Given the description of an element on the screen output the (x, y) to click on. 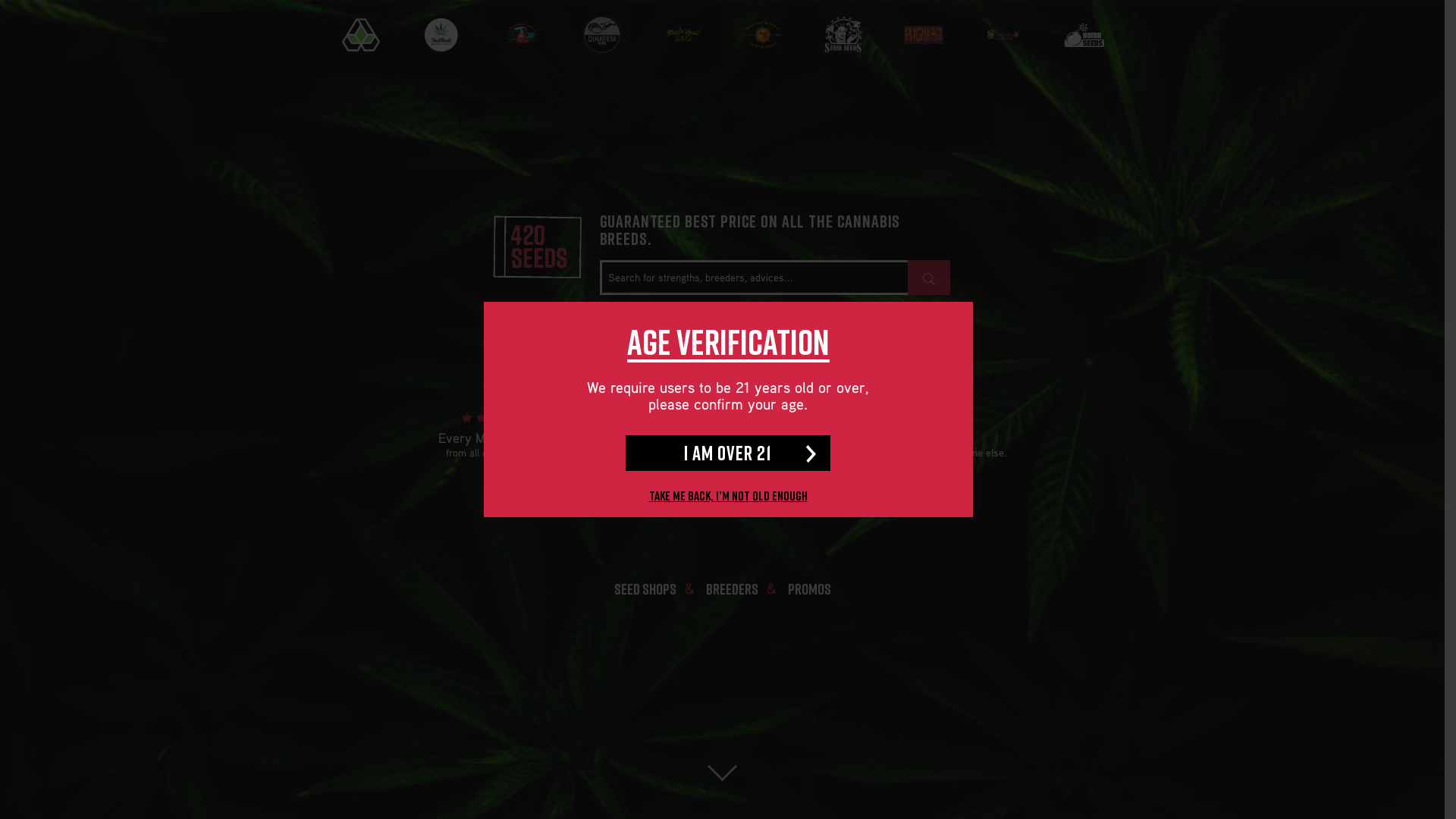
PROMOS Element type: text (808, 588)
SEED SHOPS Element type: text (645, 588)
Sensi Seeds Element type: hover (842, 34)
Barneys Farm Element type: hover (761, 40)
Dr Krippling Element type: hover (1002, 34)
Green House Seeds Element type: hover (681, 34)
BREEDERS Element type: text (731, 588)
I AM OVER 21 Element type: text (727, 452)
Bighead Seeds Element type: hover (922, 44)
Bomb Seeds Element type: hover (1083, 42)
Search Element type: hover (927, 277)
Auto Seeds Element type: hover (359, 34)
Dinafem Seeds Element type: hover (601, 34)
Big Buddha Seeds Element type: hover (520, 34)
Fast Buds Element type: hover (441, 34)
